Given the description of an element on the screen output the (x, y) to click on. 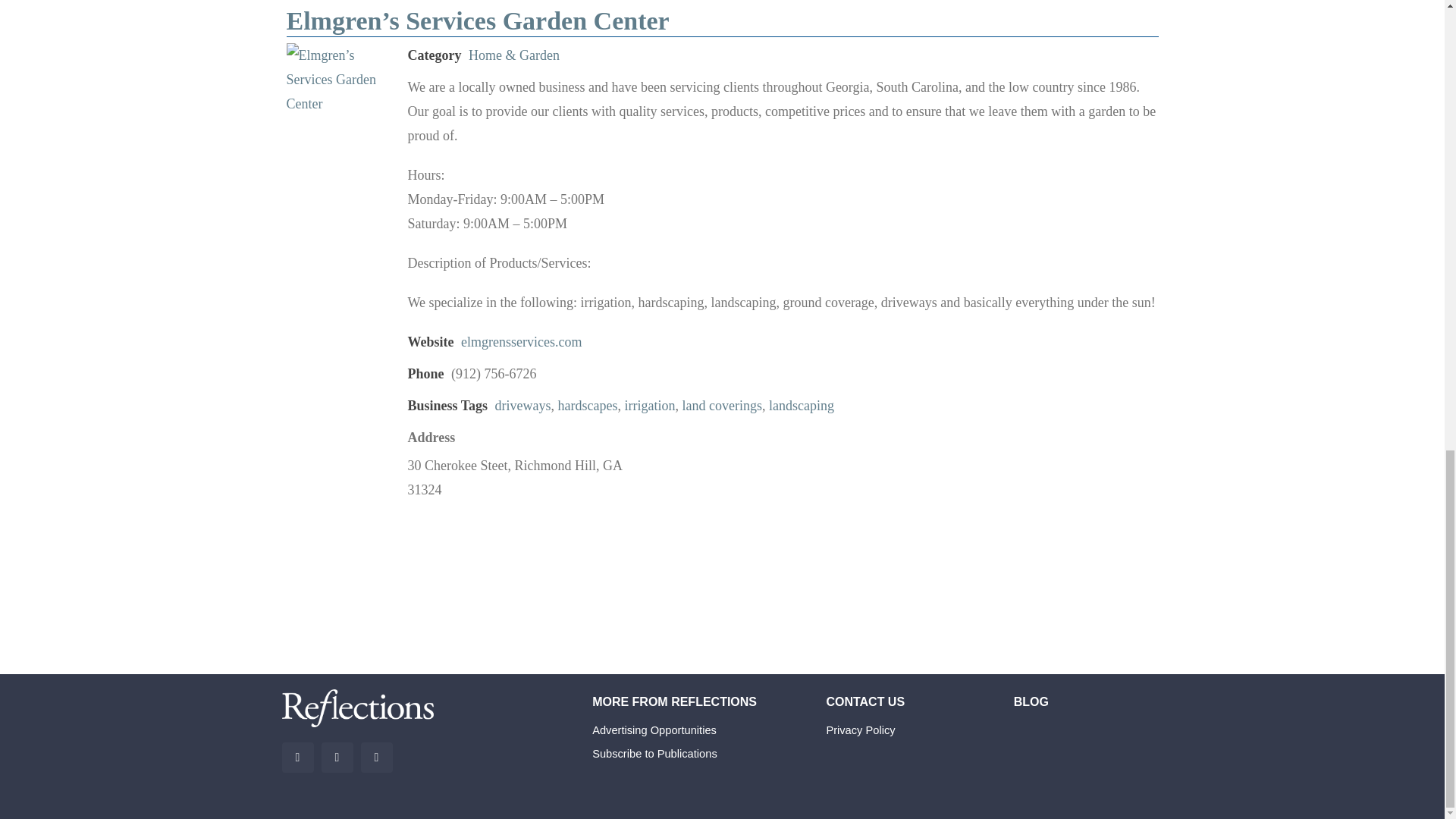
Twitter (337, 757)
Instagram (377, 757)
Facebook (298, 757)
elmgrensservices.com (520, 341)
